Given the description of an element on the screen output the (x, y) to click on. 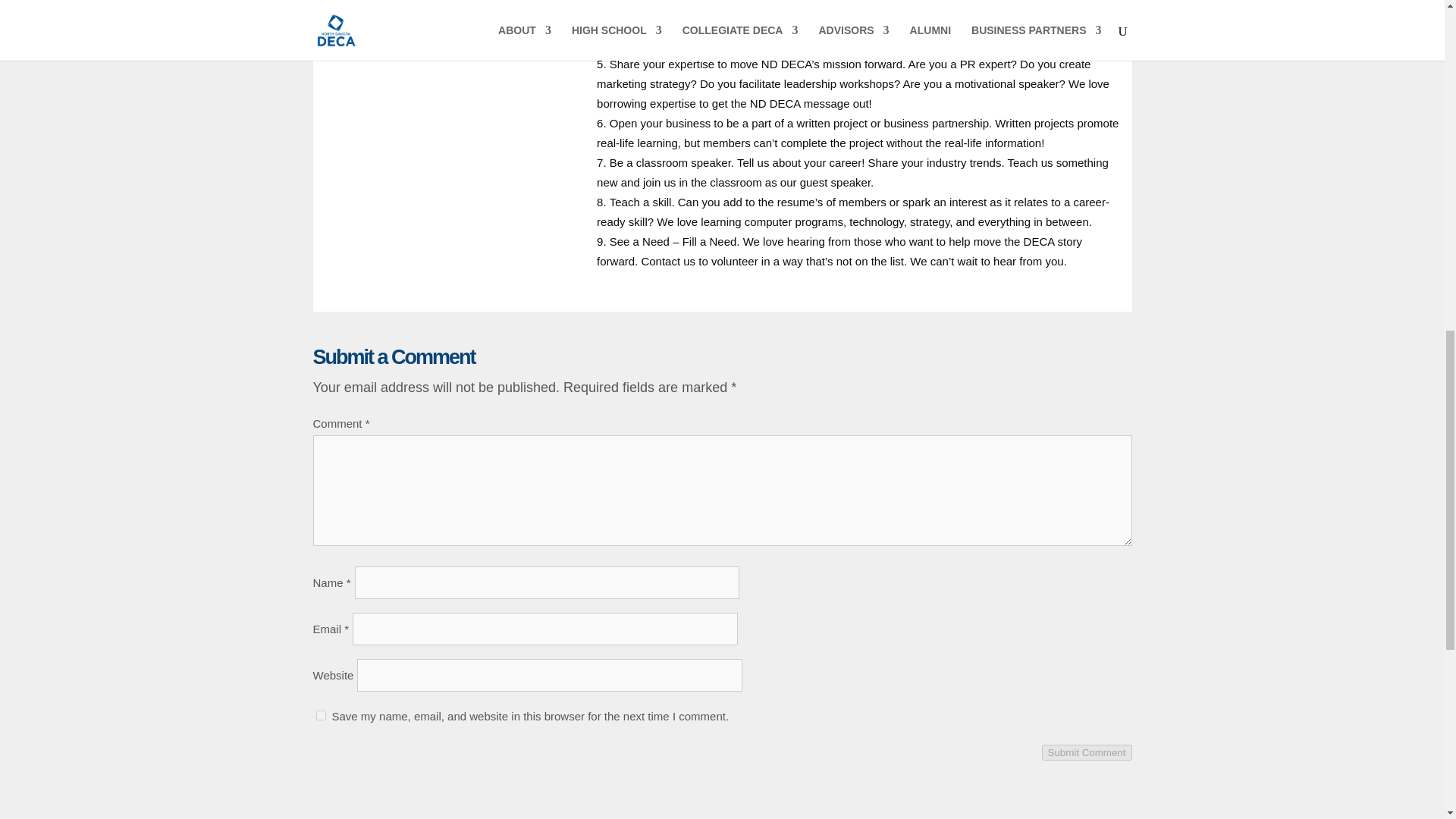
Submit Comment (1087, 752)
yes (319, 715)
